Given the description of an element on the screen output the (x, y) to click on. 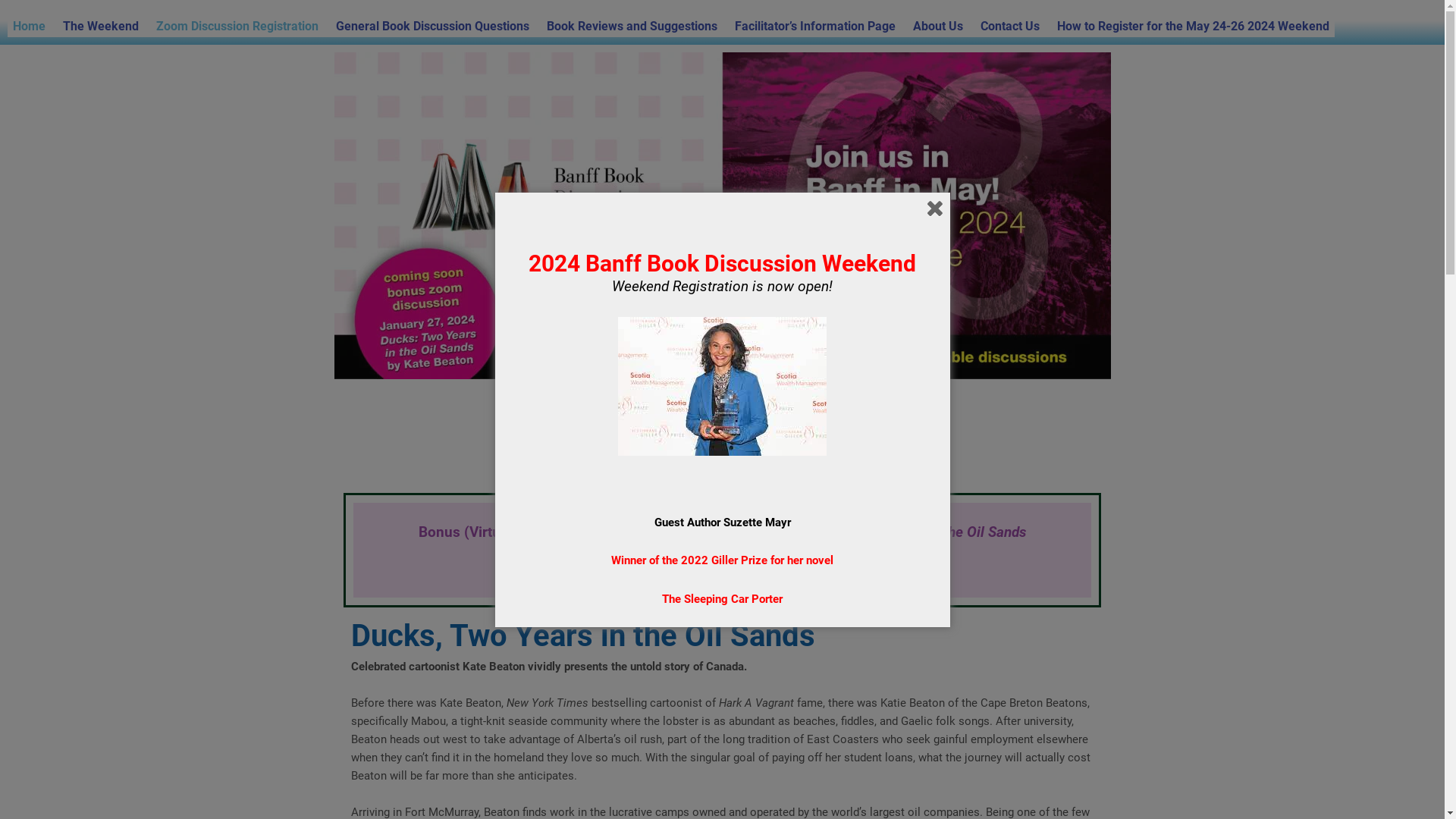
Contact Us Element type: text (1009, 26)
Zoom Discussion Registration Element type: text (236, 26)
General Book Discussion Questions Element type: text (432, 26)
The Weekend Element type: text (100, 26)
Book Reviews and Suggestions Element type: text (631, 26)
Home Element type: text (28, 26)
About Us Element type: text (937, 26)
How to Register for the May 24-26 2024 Weekend Element type: text (1192, 26)
